Given the description of an element on the screen output the (x, y) to click on. 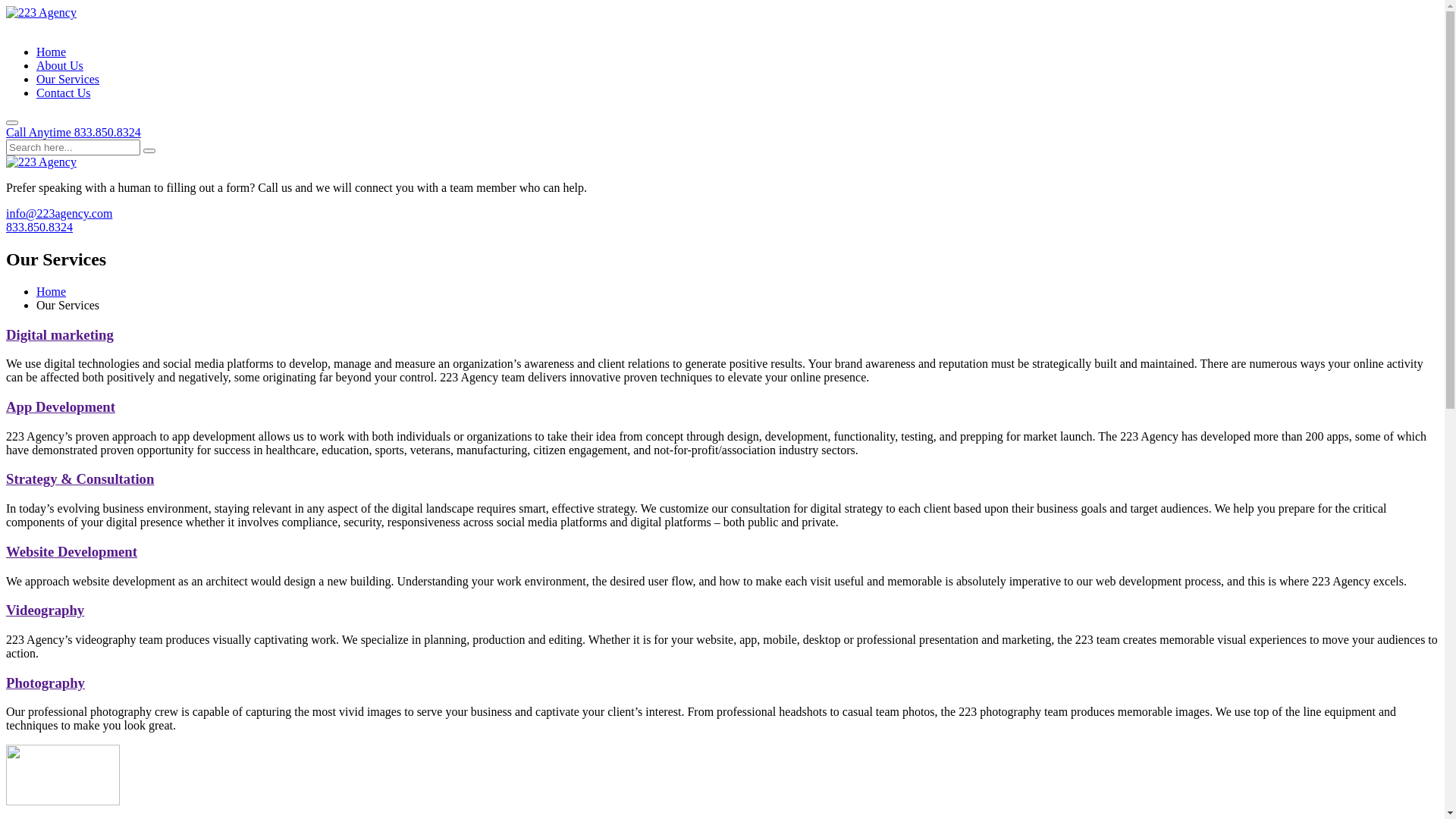
Photography Element type: text (45, 682)
About Us Element type: text (59, 65)
Digital marketing Element type: text (59, 334)
Strategy & Consultation Element type: text (79, 478)
info@223agency.com Element type: text (59, 213)
App Development Element type: text (60, 406)
833.850.8324 Element type: text (39, 226)
Call Anytime 833.850.8324 Element type: text (73, 131)
Home Element type: text (50, 51)
Our Services Element type: text (67, 78)
Videography Element type: text (45, 610)
Home Element type: text (50, 291)
Contact Us Element type: text (63, 92)
Website Development Element type: text (71, 551)
